Given the description of an element on the screen output the (x, y) to click on. 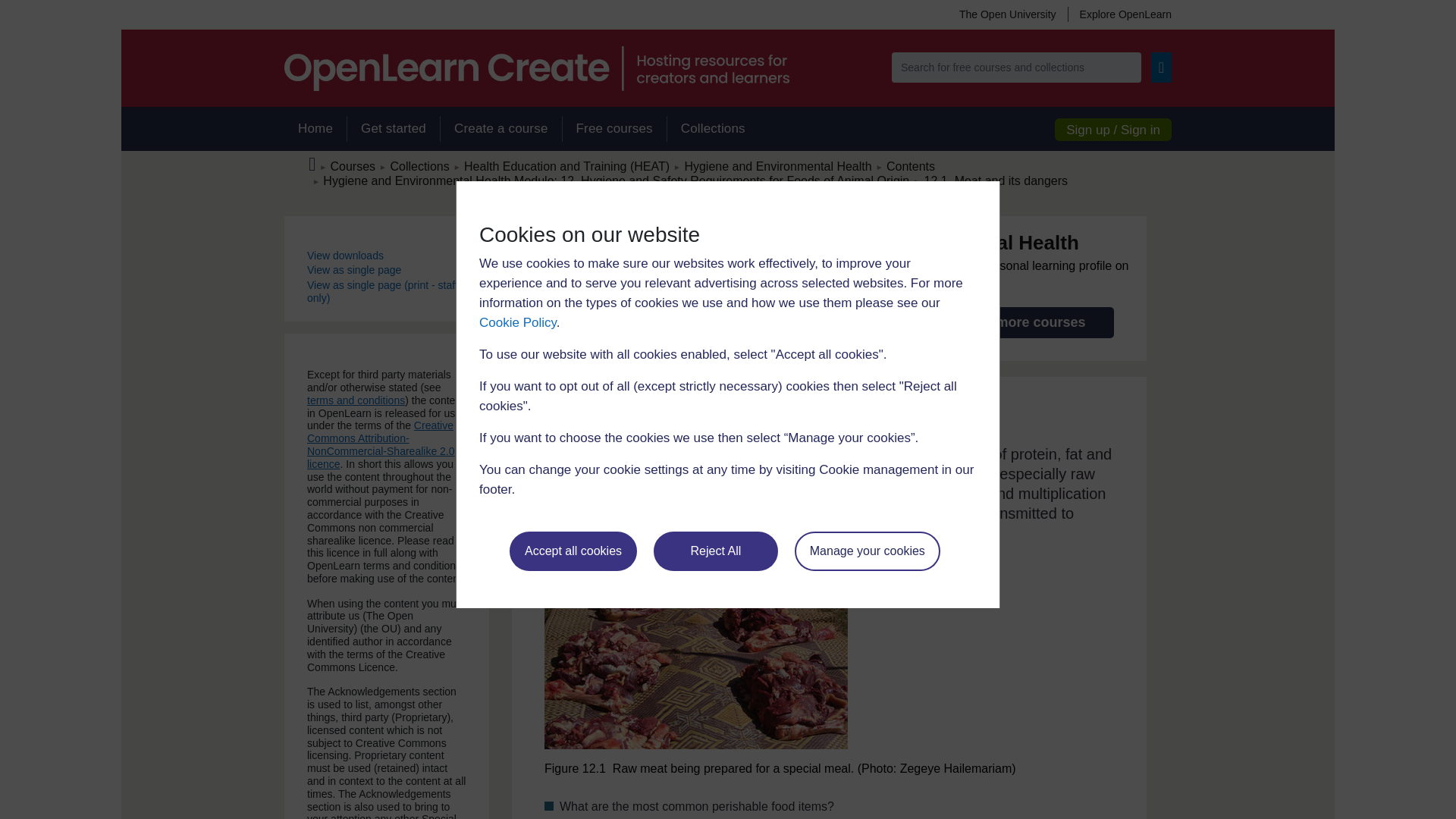
SC Web Editor (615, 180)
Get started (392, 128)
Home (314, 128)
Explore OpenLearn (1119, 14)
Create a course (500, 128)
Free courses (614, 128)
The Open University (1007, 14)
Cookie Policy (517, 322)
The Open University (1007, 14)
Collections (712, 128)
Accept all cookies (573, 550)
Explore OpenLearn (1119, 14)
Reject All (715, 550)
Manage your cookies (867, 550)
OpenLearn Create (536, 67)
